Given the description of an element on the screen output the (x, y) to click on. 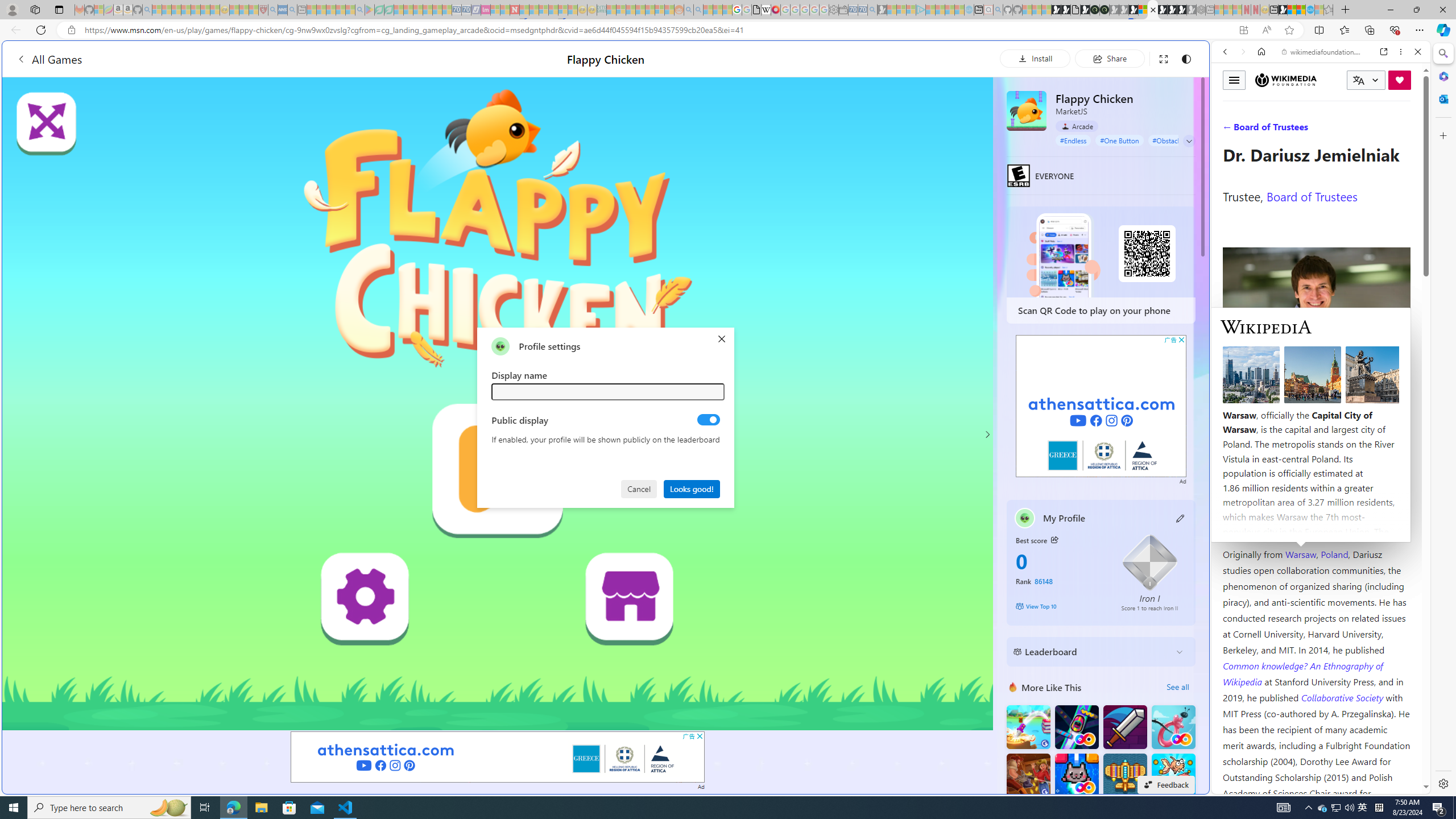
Microsoft Start - Sleeping (949, 9)
wikimediafoundation.org (1323, 51)
Pets - MSN - Sleeping (340, 9)
Class: button (1053, 539)
Open link in new tab (1383, 51)
Leaderboard (1091, 651)
Dungeon Master Knight (1124, 726)
#One Button (1119, 140)
Feedback (1166, 784)
